Given the description of an element on the screen output the (x, y) to click on. 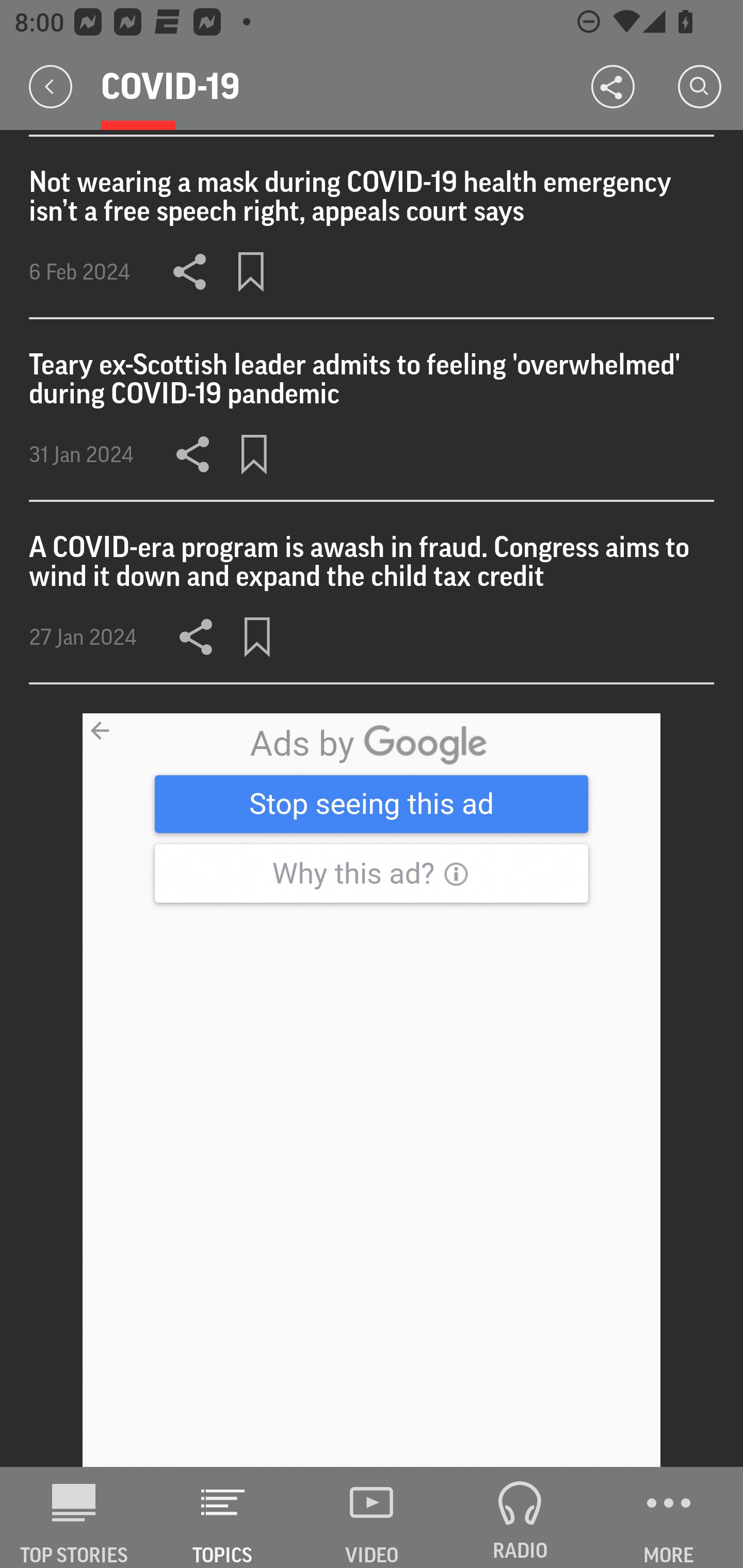
AP News TOP STORIES (74, 1517)
TOPICS (222, 1517)
VIDEO (371, 1517)
RADIO (519, 1517)
MORE (668, 1517)
